Given the description of an element on the screen output the (x, y) to click on. 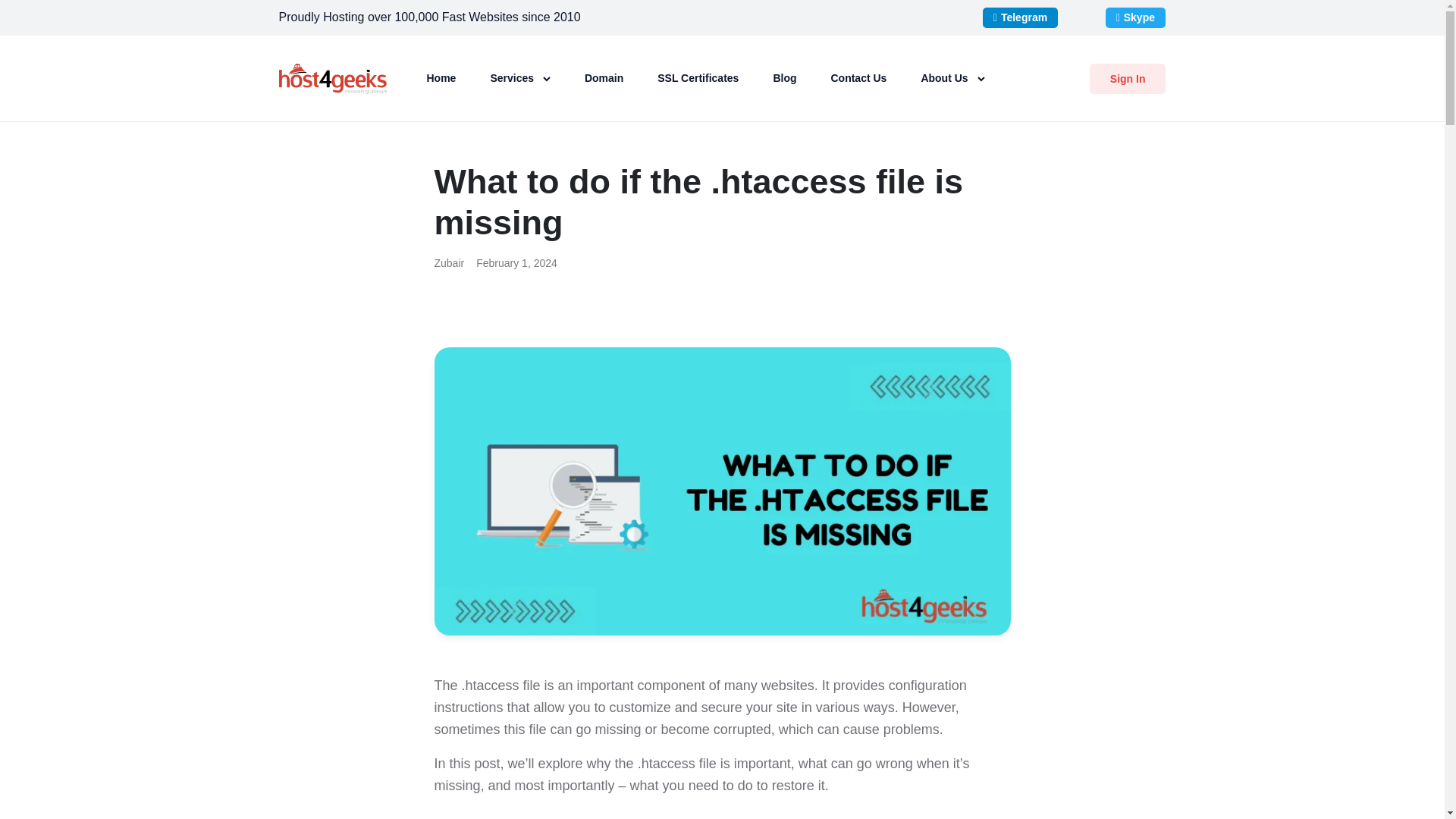
SSL Certificates (697, 78)
Telegram (1020, 17)
Sign In (1127, 78)
Home (440, 78)
Domain (603, 78)
Skype (1135, 17)
About Us (952, 78)
Services (519, 78)
Contact Us (858, 78)
